Given the description of an element on the screen output the (x, y) to click on. 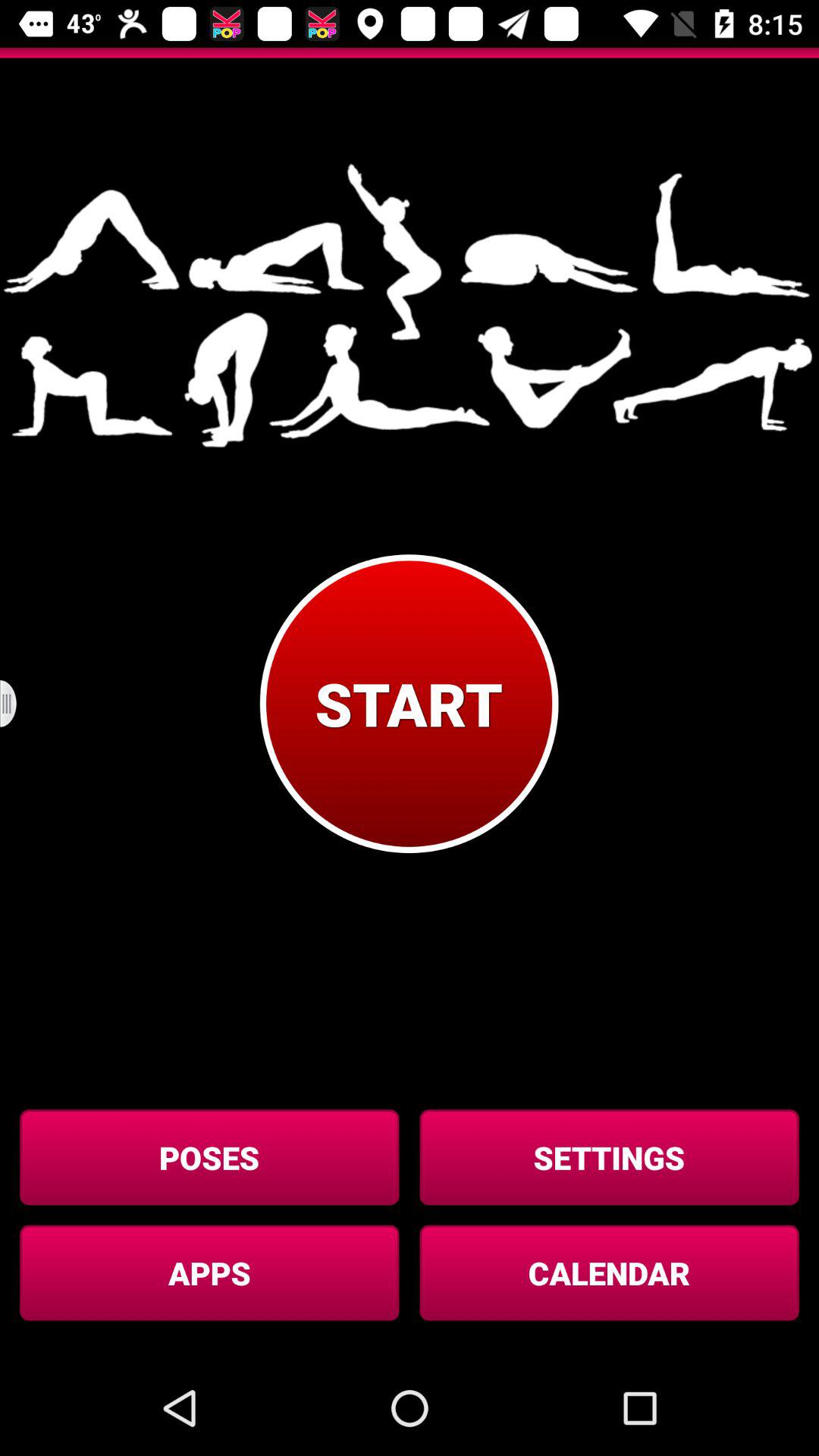
choose the icon next to the start icon (18, 703)
